Given the description of an element on the screen output the (x, y) to click on. 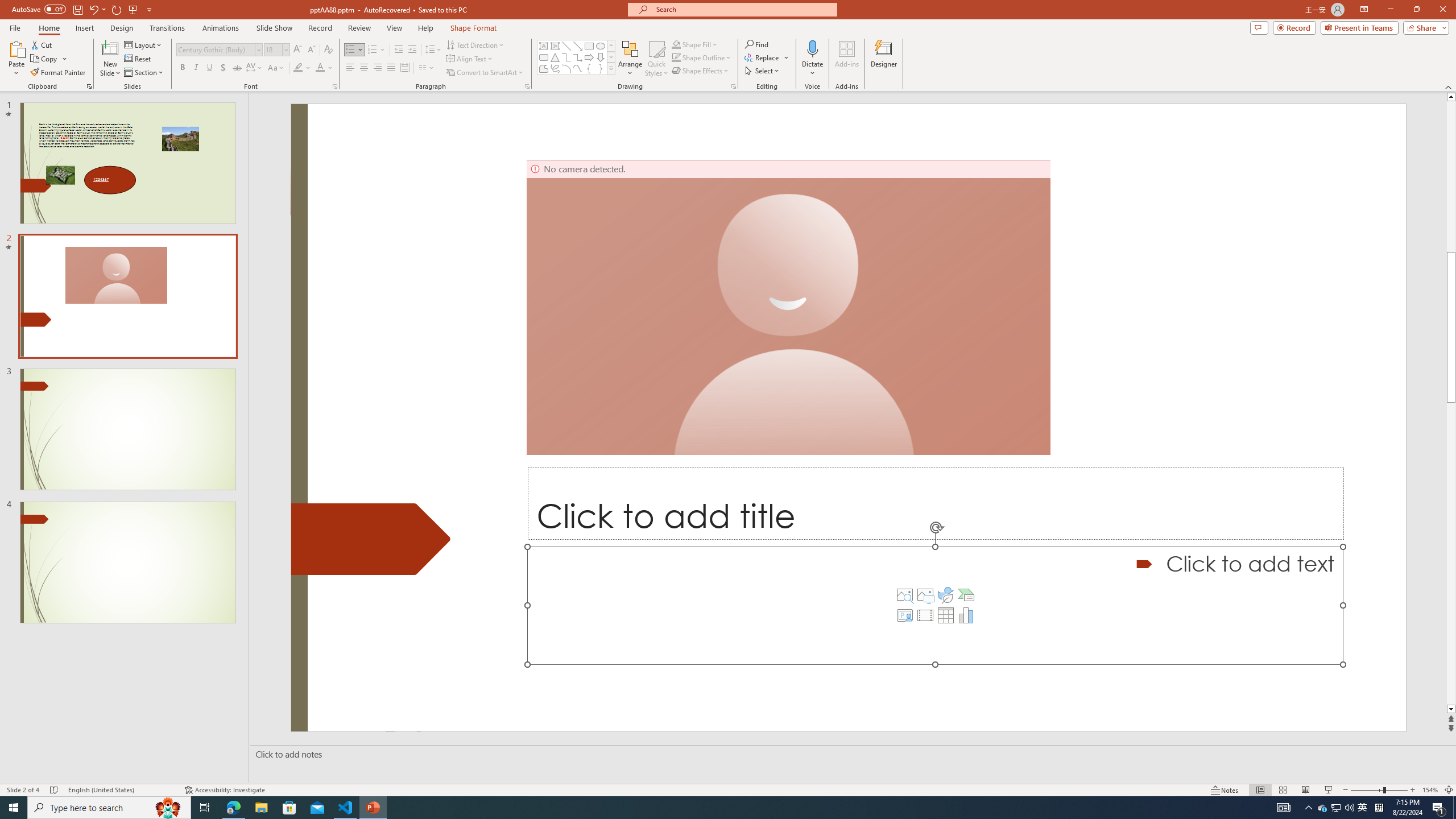
Picture Format (475, 28)
Rotate (1312, 58)
Center Shadow Rectangle (662, 56)
Shape Height (1410, 49)
Send Backward (1204, 48)
Moderate Frame, Black (630, 56)
Thick Matte, Black (503, 56)
AutomationID: PictureStylesGallery (650, 56)
Picture Layout (1072, 69)
